Given the description of an element on the screen output the (x, y) to click on. 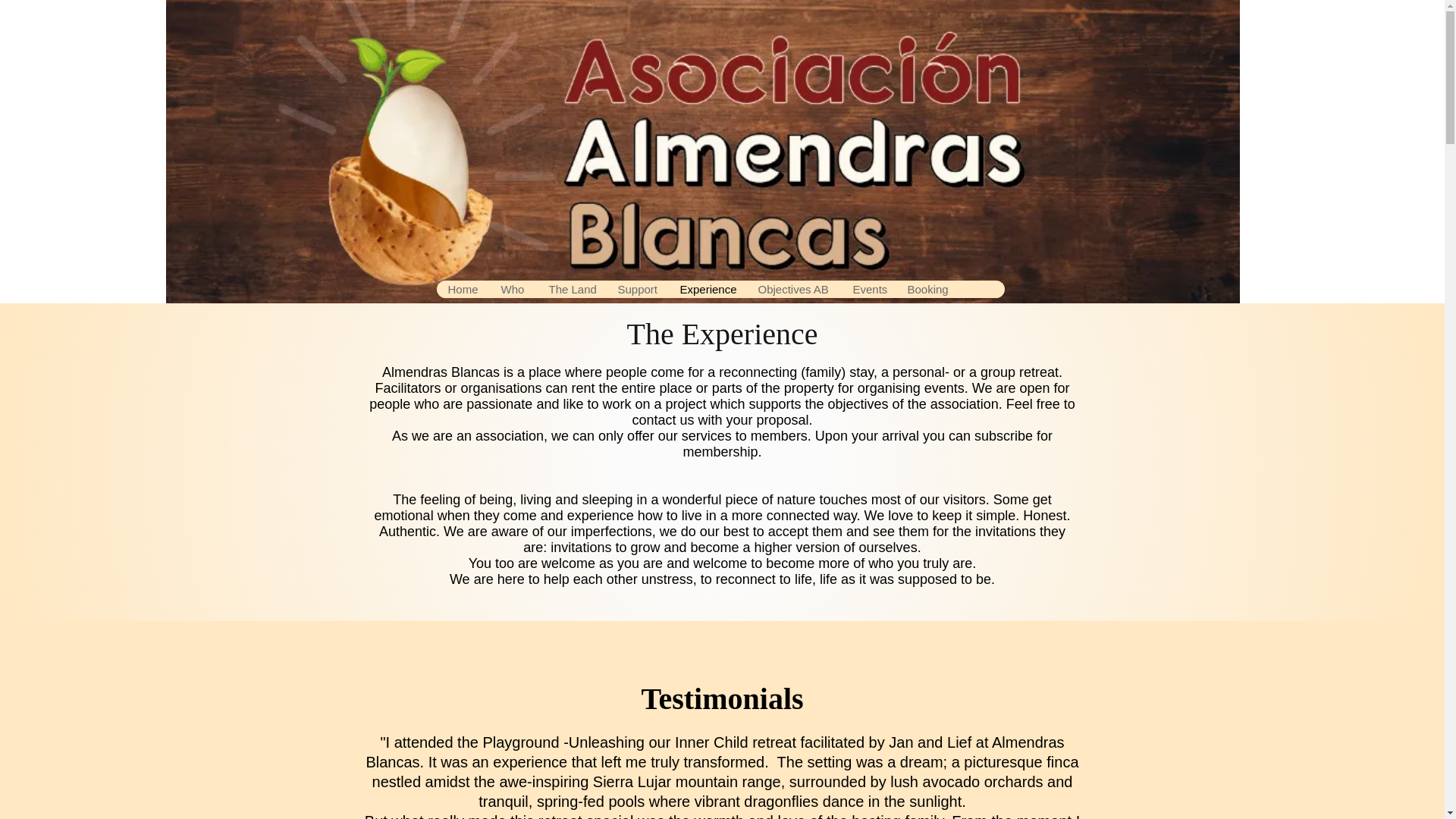
Objectives AB (793, 289)
Booking (926, 289)
The Land (571, 289)
Who (511, 289)
Events (867, 289)
Support (635, 289)
Home (462, 289)
Experience (705, 289)
